Given the description of an element on the screen output the (x, y) to click on. 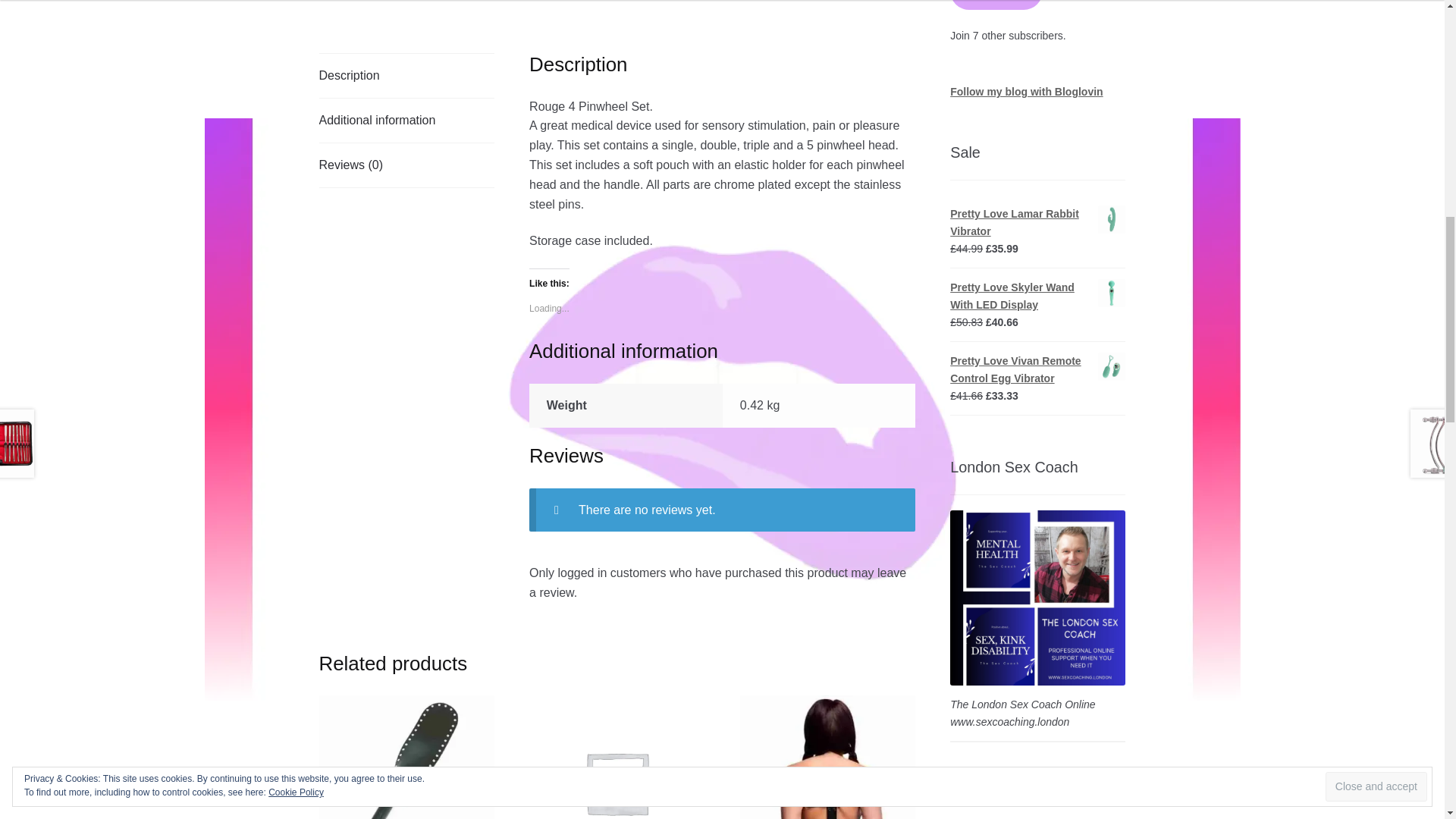
Belle's Secrets (1037, 597)
